Given the description of an element on the screen output the (x, y) to click on. 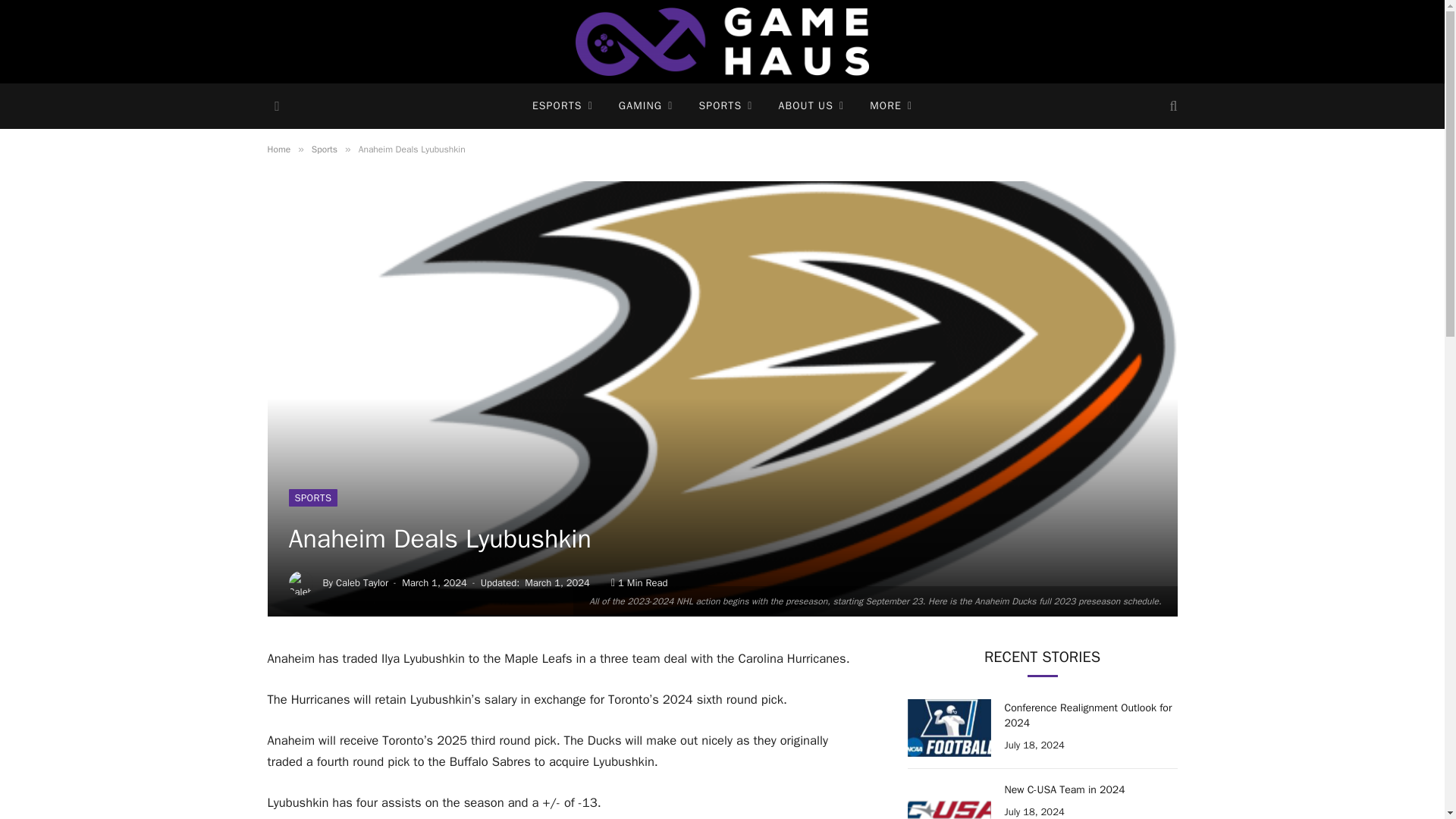
Switch to Dark Design - easier on eyes. (274, 106)
ESPORTS (562, 105)
The Game Haus (721, 41)
